Given the description of an element on the screen output the (x, y) to click on. 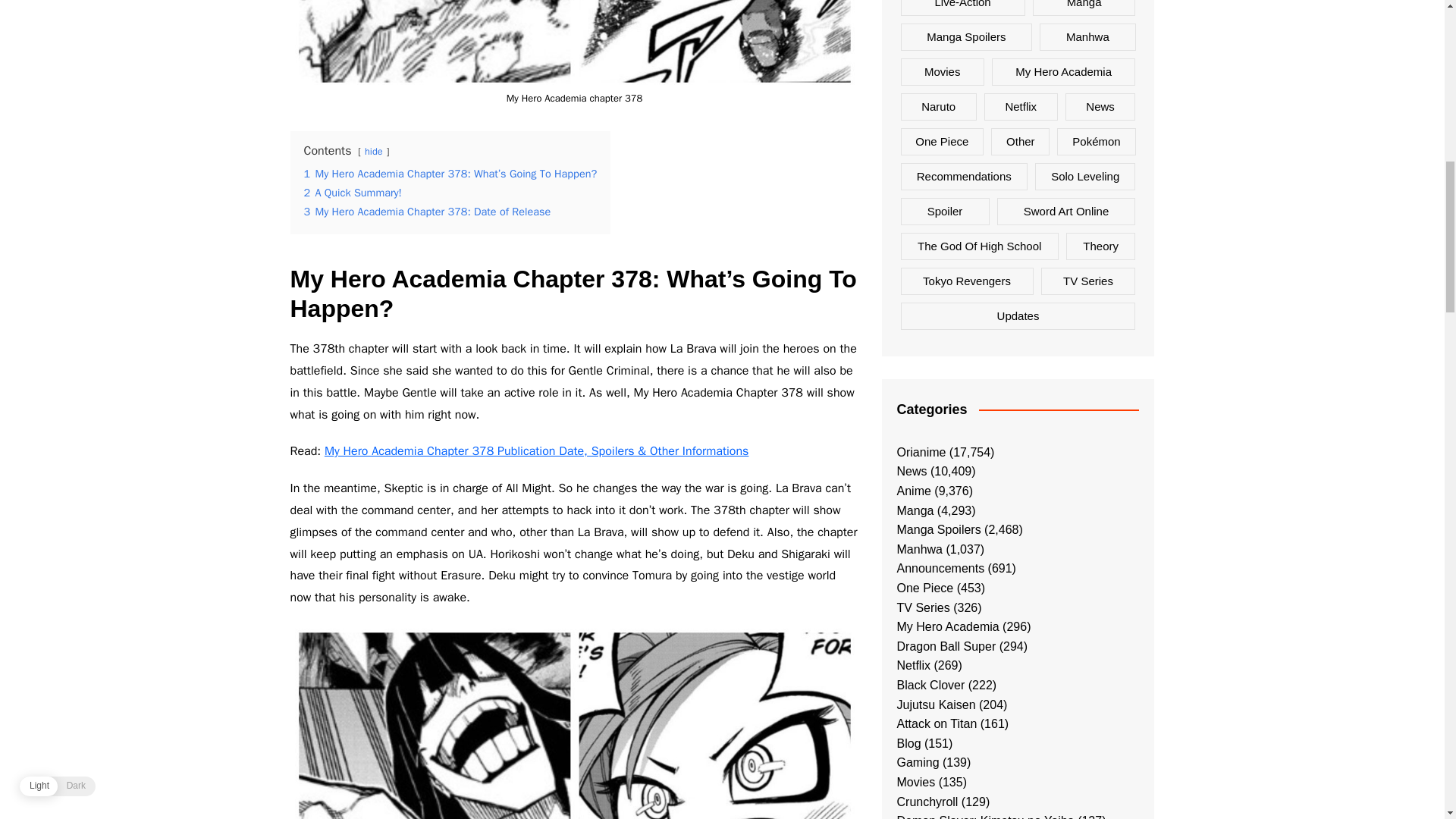
2 A Quick Summary! (351, 192)
3 My Hero Academia Chapter 378: Date of Release (426, 211)
hide (373, 151)
